Given the description of an element on the screen output the (x, y) to click on. 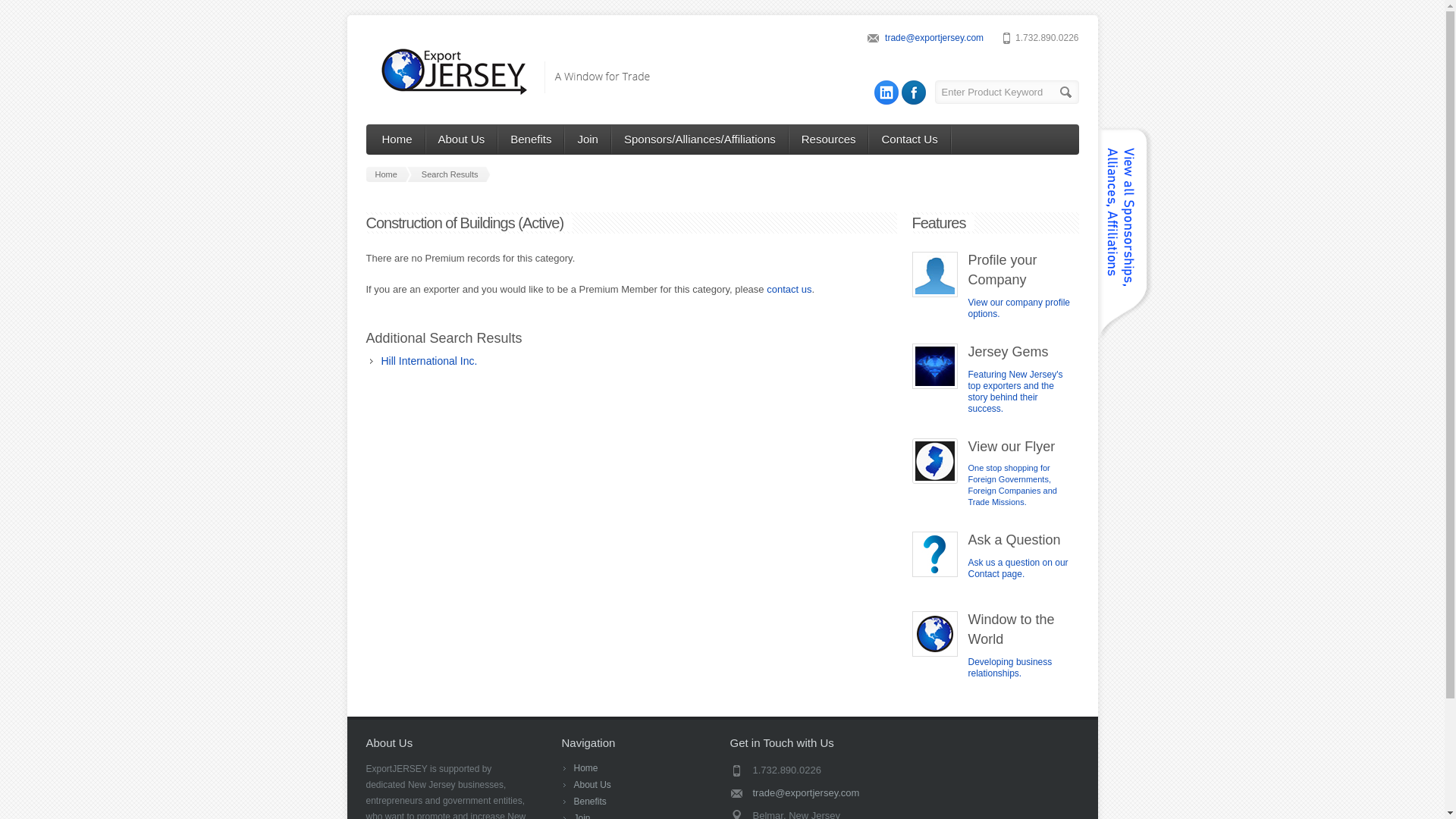
About Us (461, 139)
Benefits (530, 139)
Location (812, 812)
Export Jersey Flyer (1012, 484)
Phone (812, 770)
Home (388, 174)
View our company profile options. (1019, 308)
Email (812, 792)
Benefits (589, 801)
Ask us a question on our Contact page. (1017, 568)
Contact Us (909, 139)
Enter Product Keyword (1006, 92)
Join (581, 816)
About Us (591, 784)
